Given the description of an element on the screen output the (x, y) to click on. 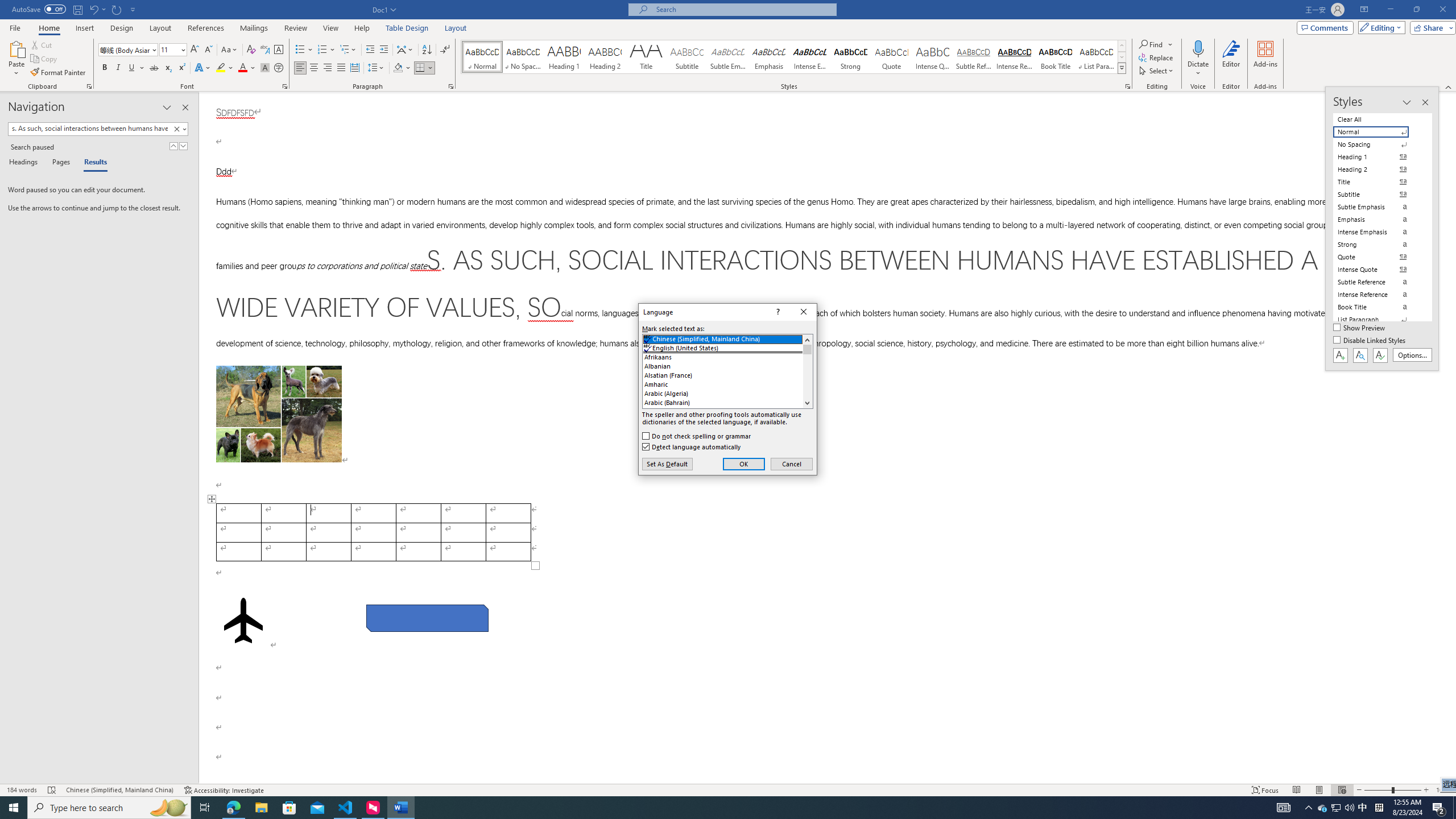
Clear (176, 128)
File Explorer (261, 807)
